Given the description of an element on the screen output the (x, y) to click on. 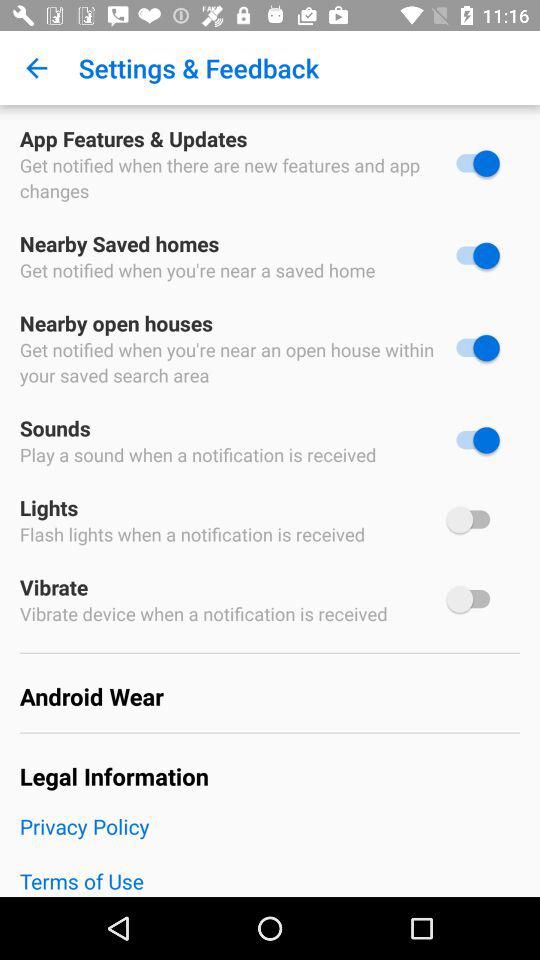
toggle vibrate on/off (473, 599)
